Given the description of an element on the screen output the (x, y) to click on. 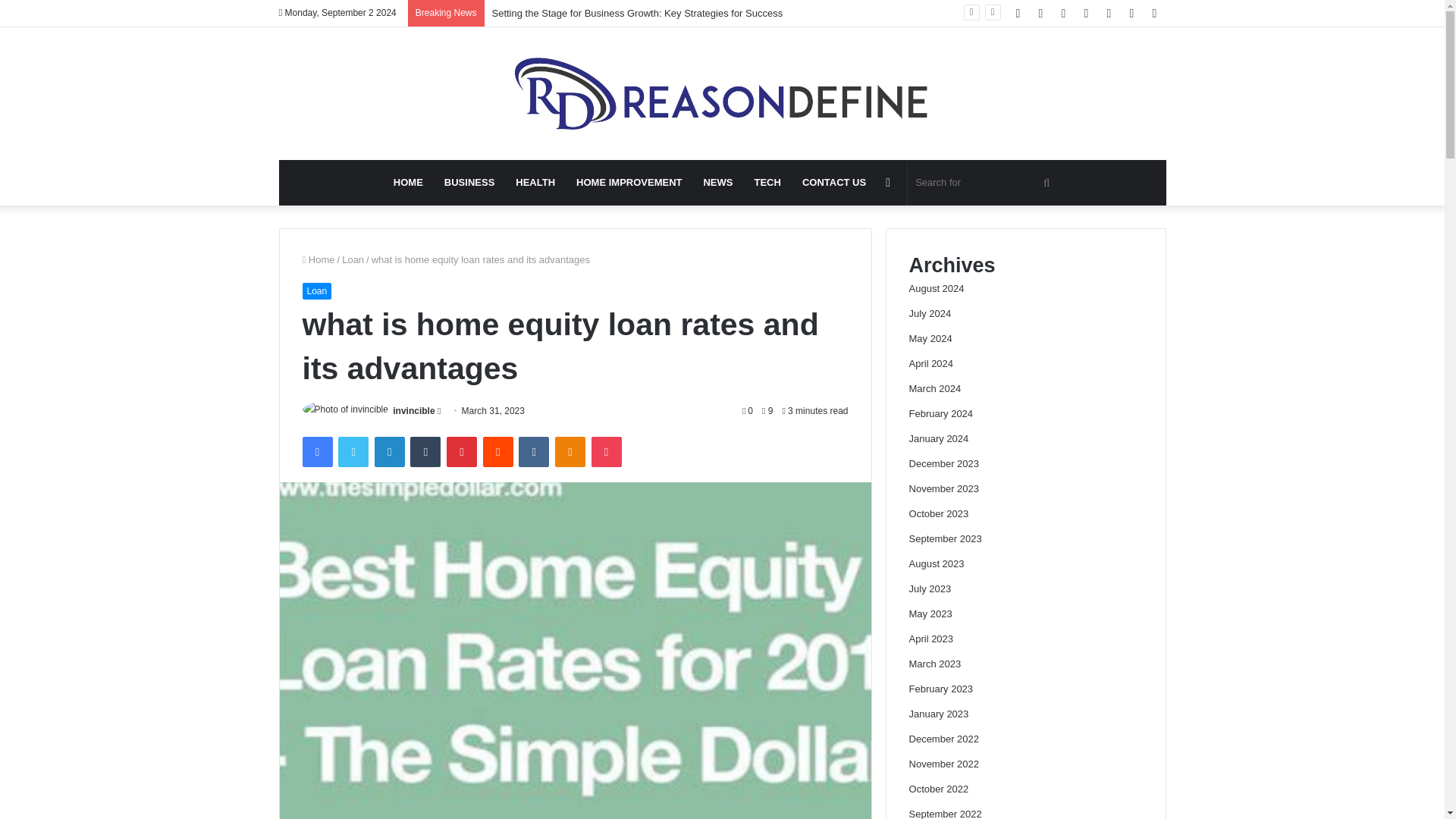
Reason define (722, 93)
CONTACT US (834, 182)
VKontakte (533, 451)
BUSINESS (469, 182)
Reddit (498, 451)
HOME IMPROVEMENT (629, 182)
Tumblr (425, 451)
LinkedIn (389, 451)
LinkedIn (389, 451)
Loan (353, 259)
